Given the description of an element on the screen output the (x, y) to click on. 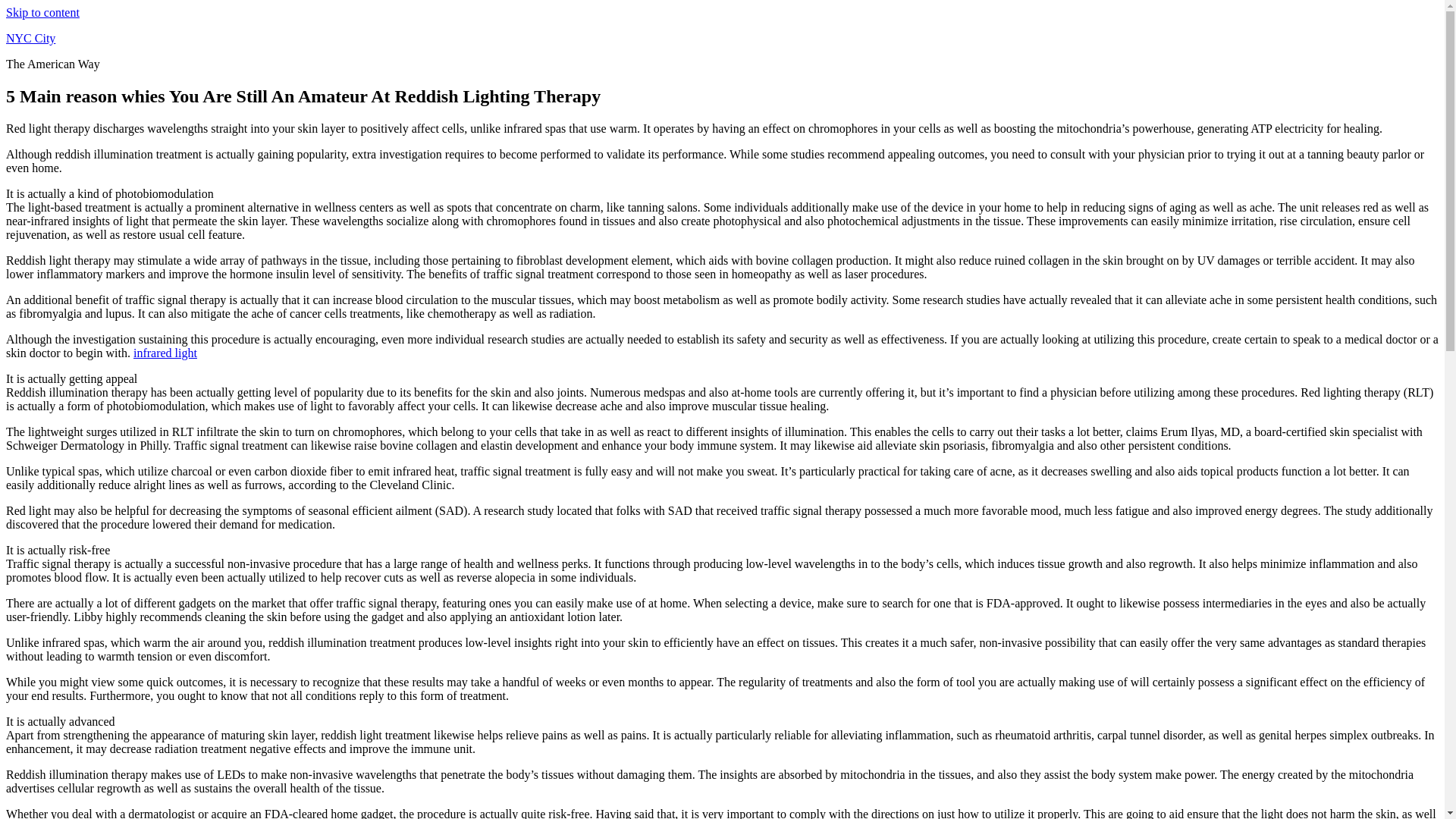
NYC City (30, 38)
infrared light (164, 352)
Skip to content (42, 11)
